Given the description of an element on the screen output the (x, y) to click on. 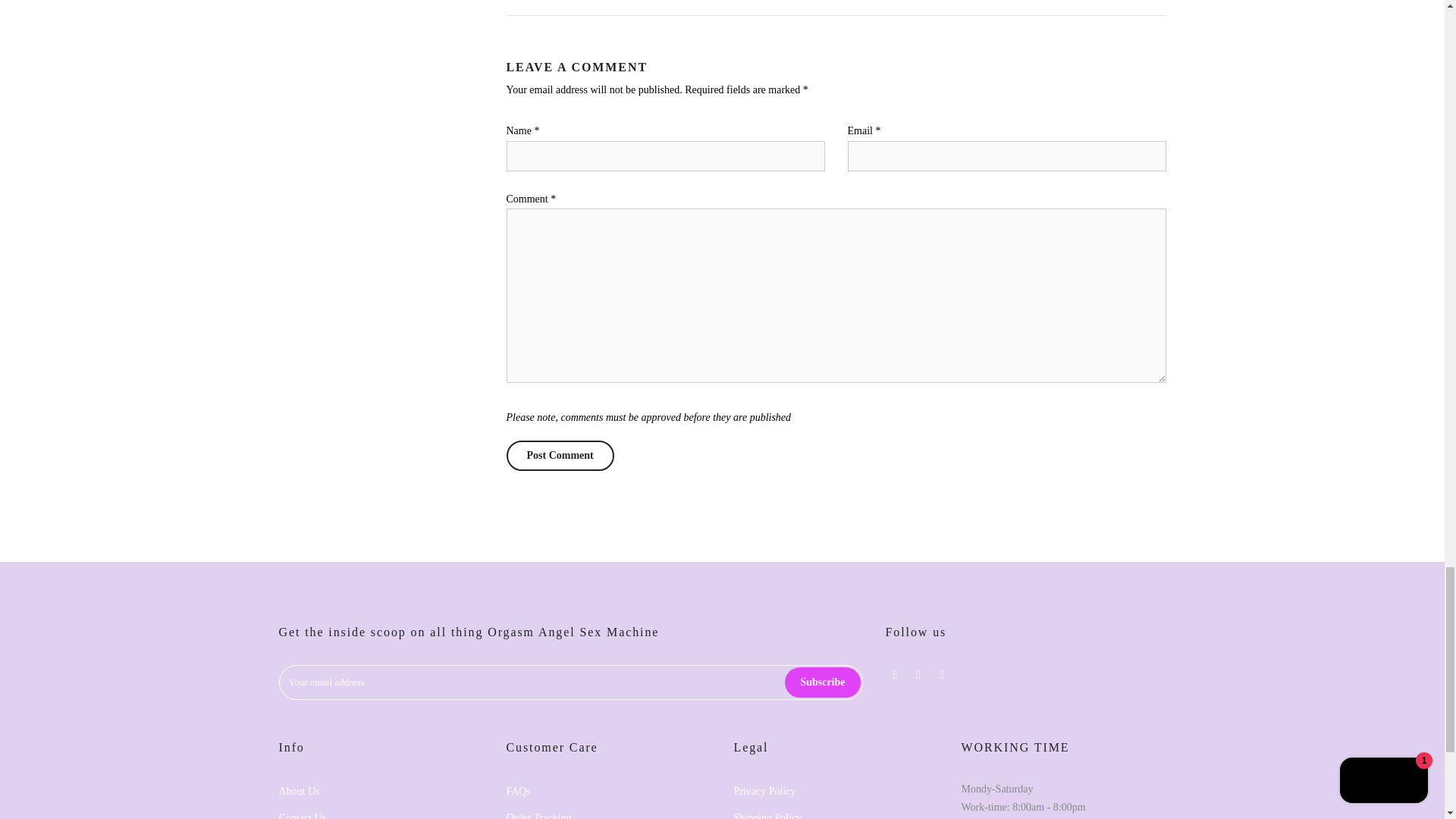
Post Comment (560, 455)
